Given the description of an element on the screen output the (x, y) to click on. 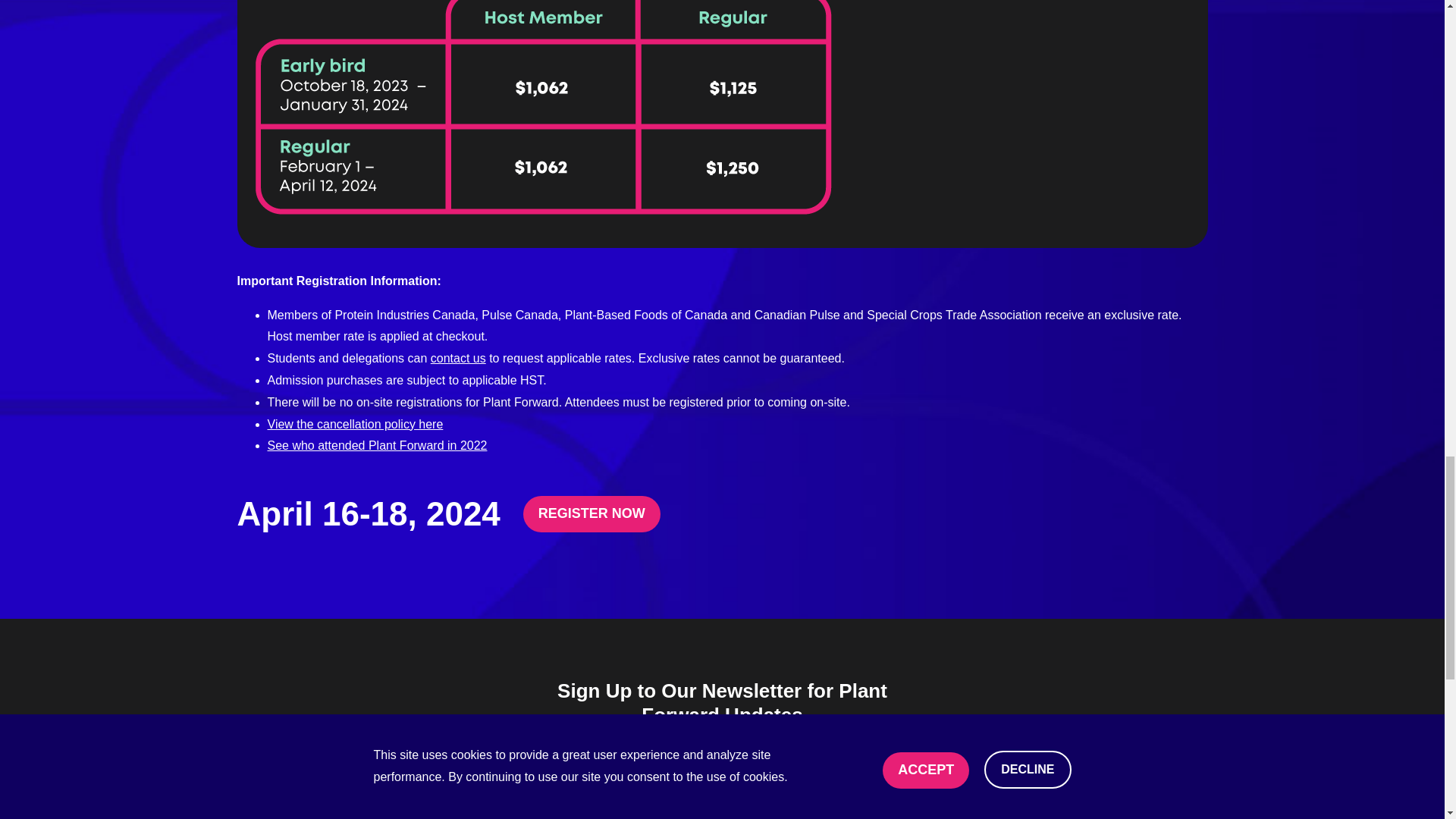
View the cancellation policy here (354, 423)
REGISTER NOW (591, 514)
See who attended Plant Forward in 2022 (376, 445)
contact us (458, 358)
